Given the description of an element on the screen output the (x, y) to click on. 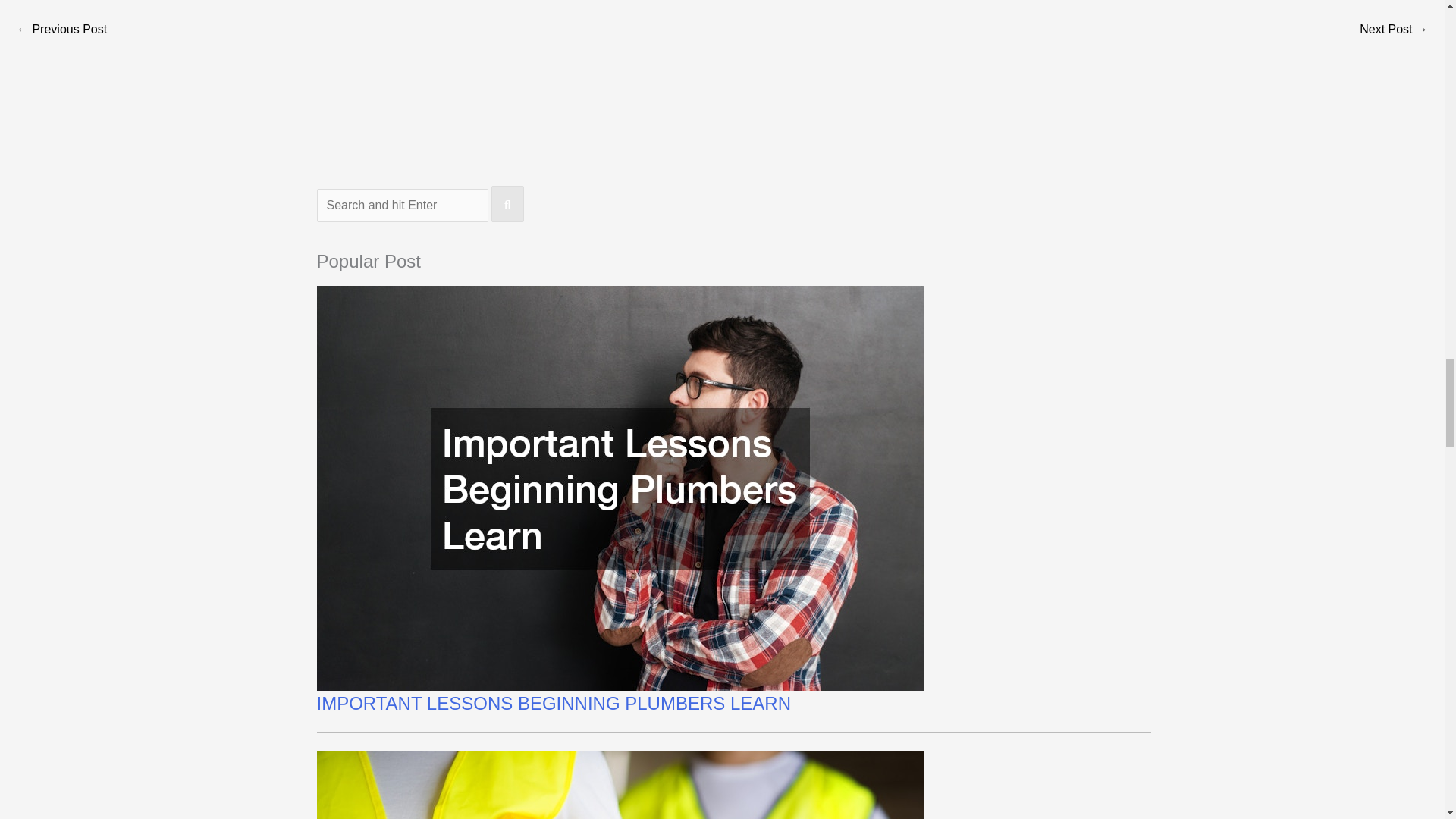
Search (508, 203)
Tips on How to Keep Your Car Interior Cooler in Summers (1393, 30)
5 Home Upgrades for Your Next Renovation (61, 30)
IMPORTANT LESSONS BEGINNING PLUMBERS LEARN (553, 702)
